Given the description of an element on the screen output the (x, y) to click on. 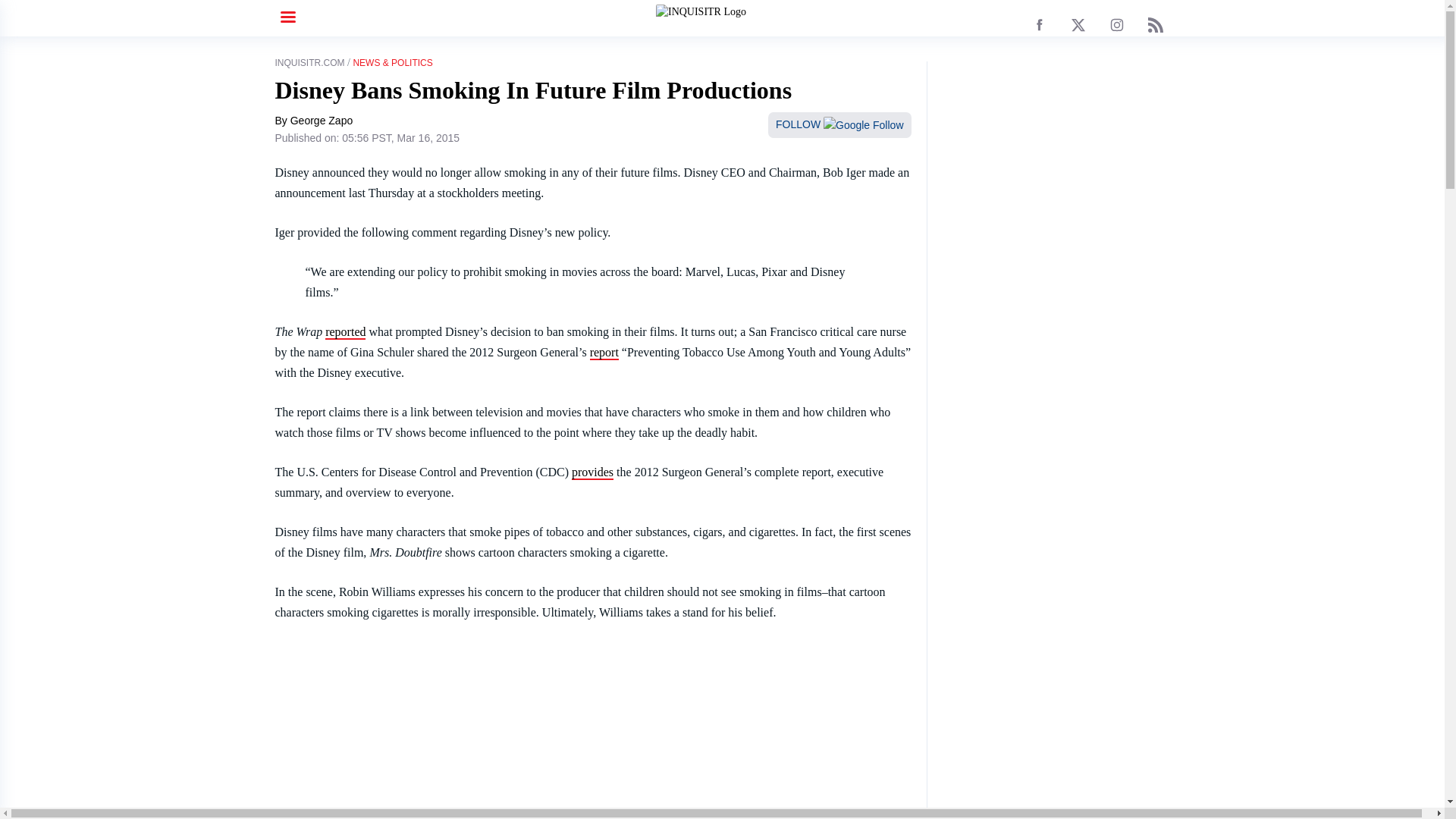
INQUISITR.COM (309, 62)
2012 U.S. Surgeon General Report  (603, 352)
